Given the description of an element on the screen output the (x, y) to click on. 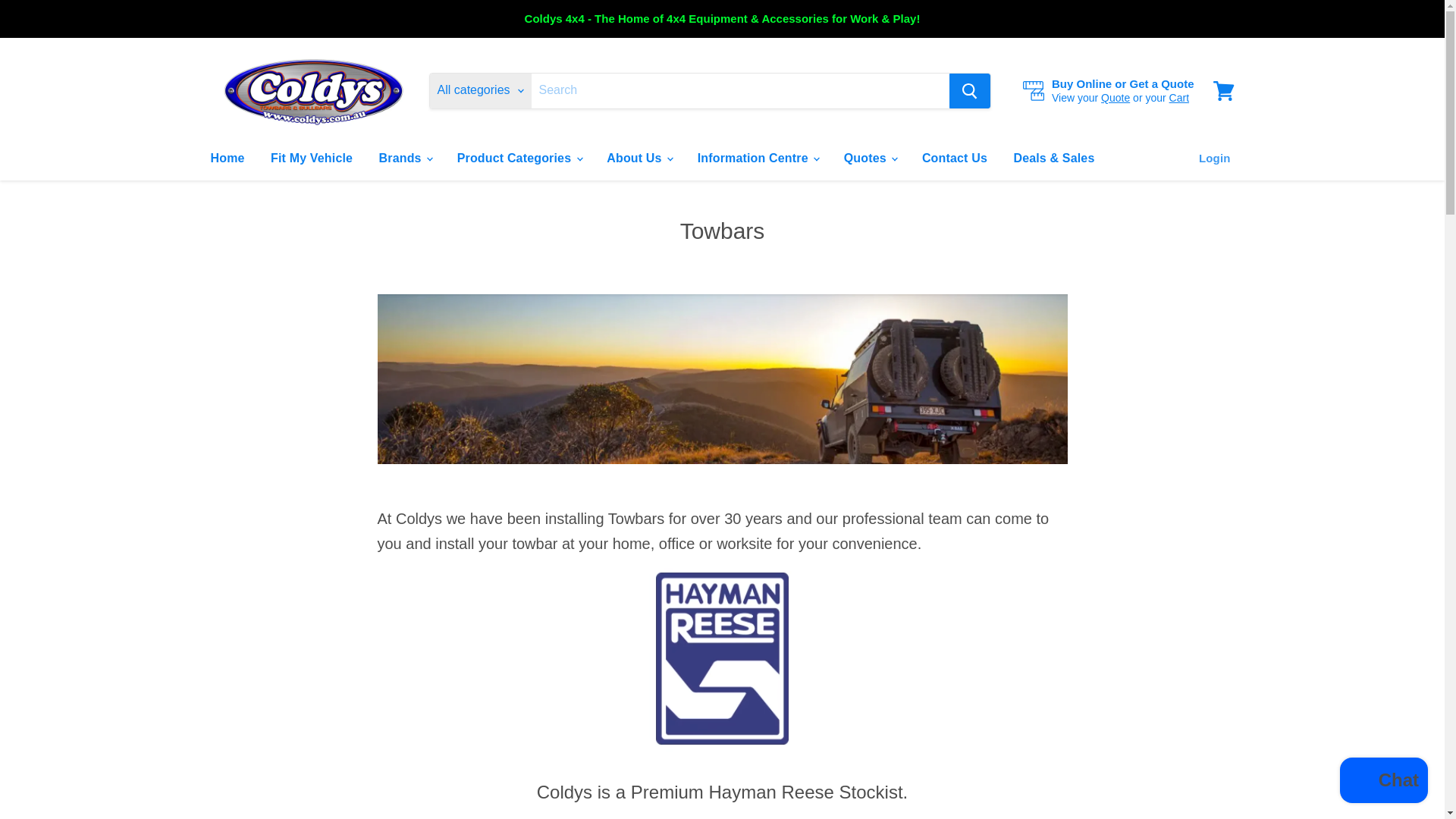
Request for quote (1114, 97)
Fit My Vehicle (311, 158)
Brands (405, 158)
Product Categories (518, 158)
Home (227, 158)
Cart (1179, 97)
Shopify online store chat (1383, 781)
View cart (1223, 89)
Quote (1114, 97)
